Given the description of an element on the screen output the (x, y) to click on. 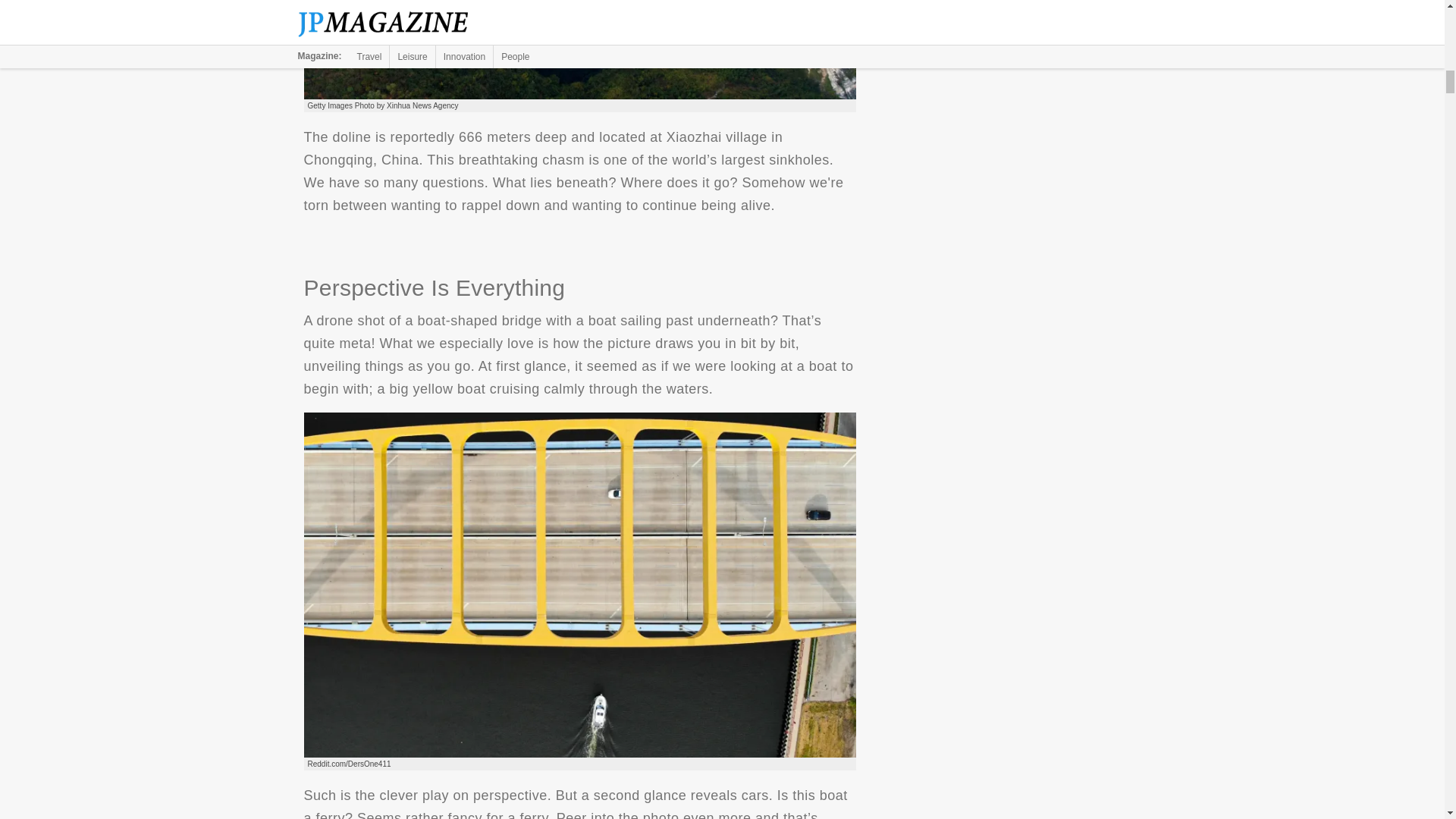
Gazing Into the Heart of the Earth (579, 49)
